Given the description of an element on the screen output the (x, y) to click on. 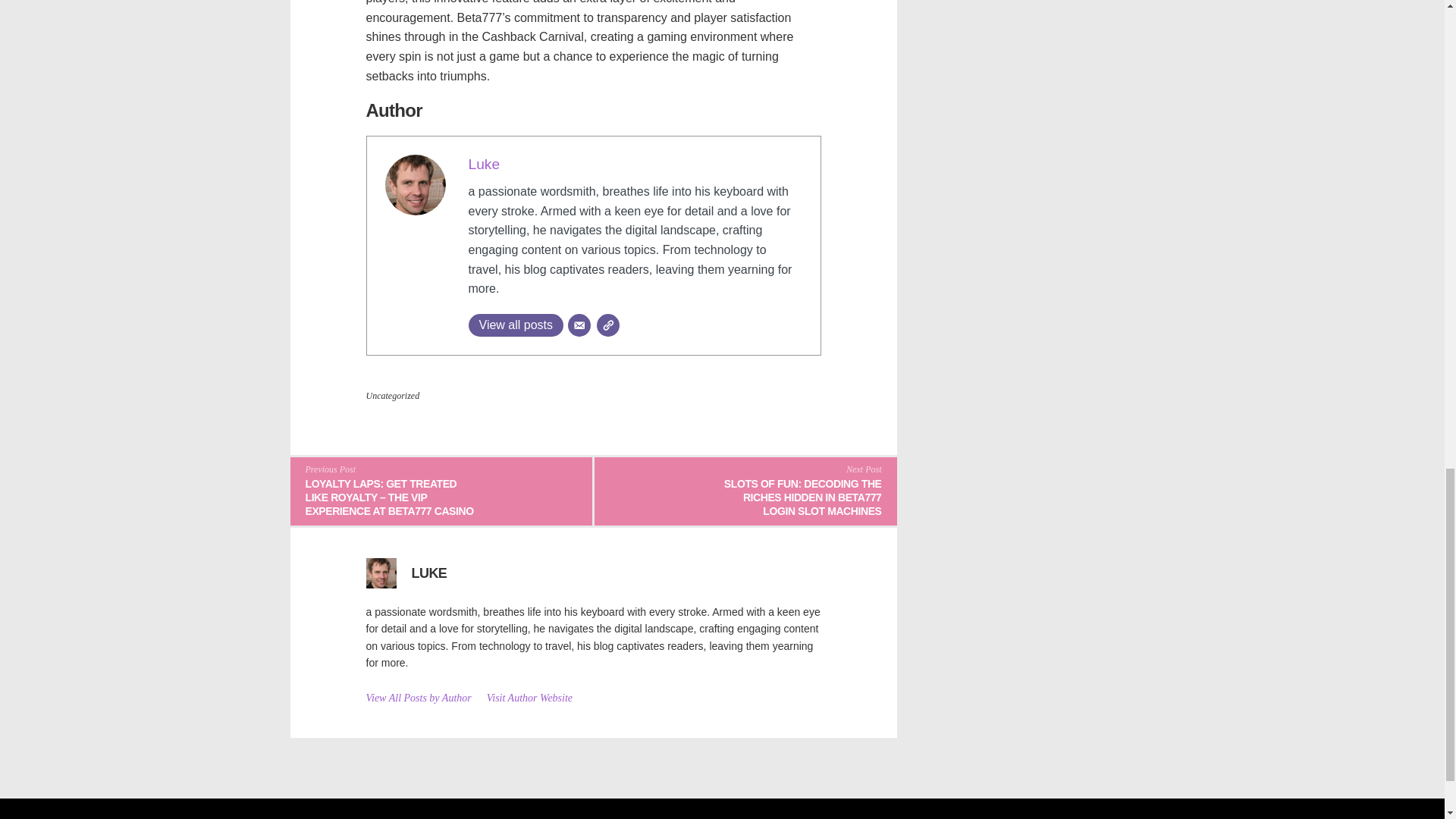
Luke (484, 163)
View All Posts by Author (417, 698)
Visit Author Website (529, 698)
Uncategorized (392, 396)
Luke (484, 163)
View all posts (516, 324)
View all posts (516, 324)
